Given the description of an element on the screen output the (x, y) to click on. 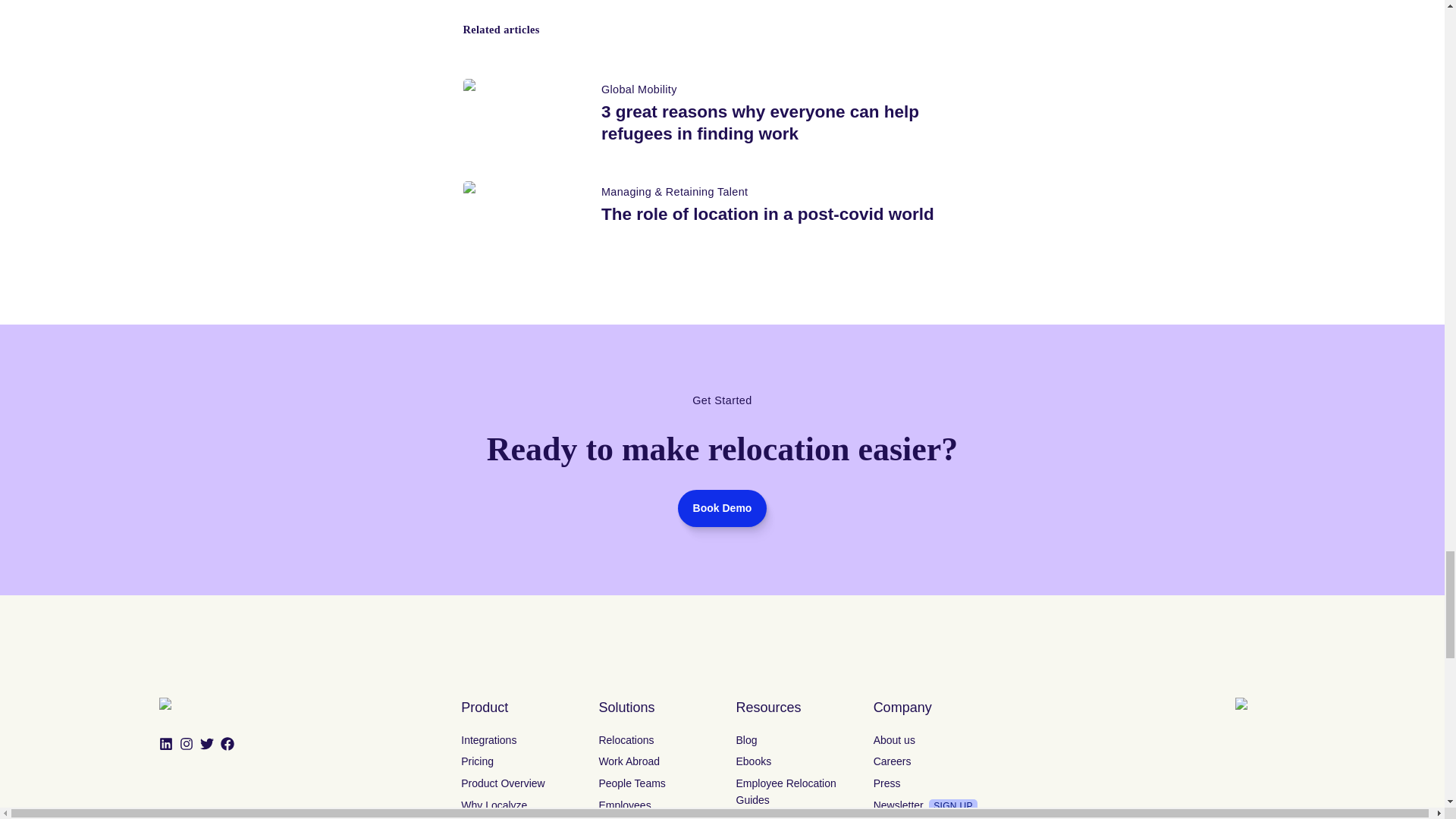
Pricing (477, 422)
Book Demo (722, 169)
Work Abroad (628, 422)
Why Localyze (494, 465)
Product Overview (502, 444)
Book Demo (488, 487)
Release Log (491, 509)
Integrations (488, 399)
People Teams (631, 444)
Relocations (625, 399)
